Given the description of an element on the screen output the (x, y) to click on. 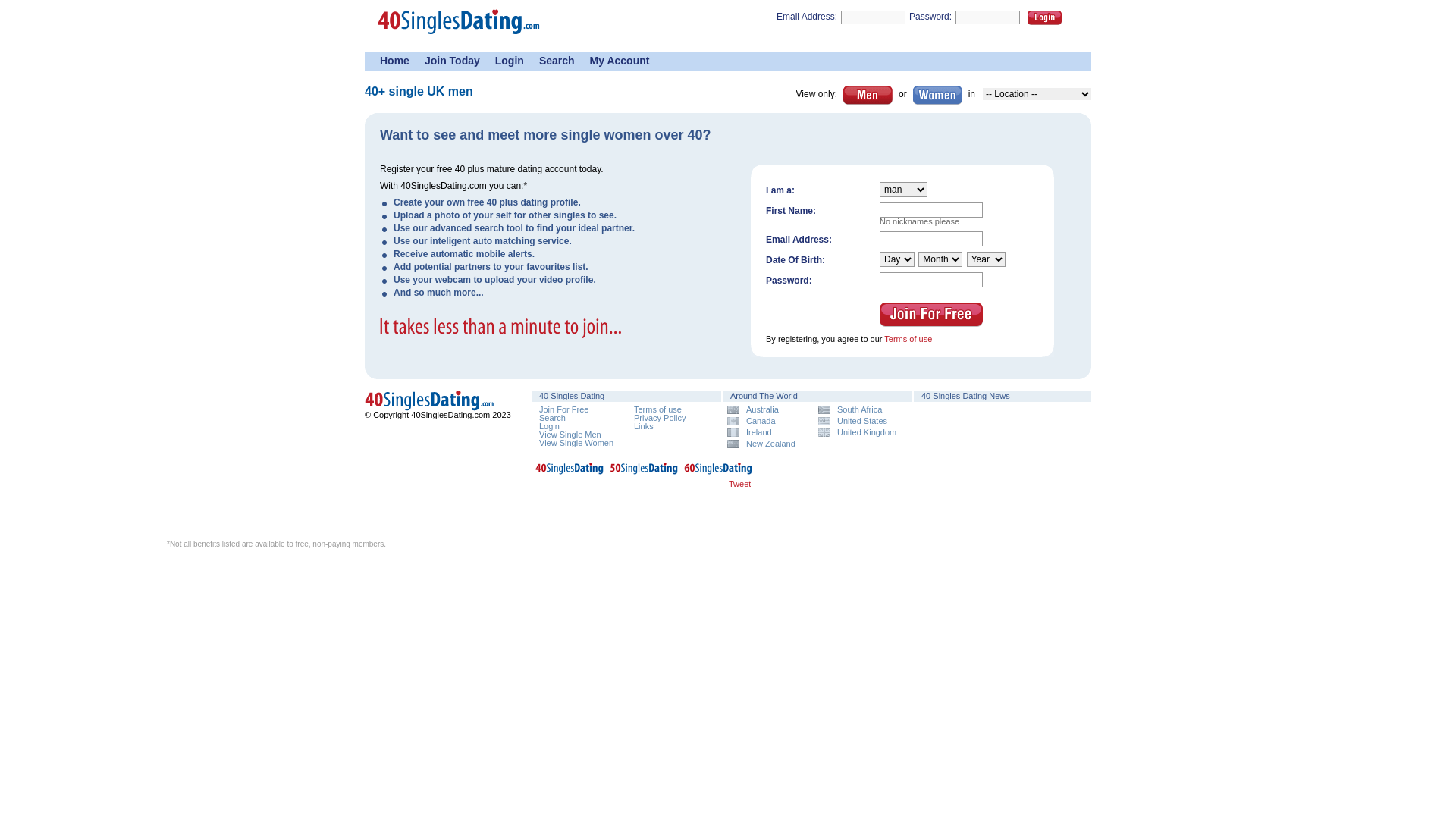
United Kingdom Element type: text (857, 432)
View Single Men Element type: text (570, 434)
40 Singles Dating Element type: hover (432, 407)
40 Singles Dating News Element type: text (965, 395)
New Zealand Element type: text (766, 443)
View Single Women Element type: text (576, 442)
Terms of use Element type: text (657, 409)
Privacy Policy Element type: text (659, 417)
40 Singles Dating Element type: hover (569, 471)
Join For Free Element type: text (563, 409)
Register Element type: text (930, 314)
Login Element type: text (549, 425)
Ireland Element type: text (766, 432)
Join Today Element type: text (452, 60)
Men Element type: text (867, 94)
60 Singles Dating Element type: hover (718, 471)
Search Element type: text (552, 417)
Terms of use Element type: text (907, 338)
South Africa Element type: text (857, 409)
Women Element type: text (937, 94)
Login Element type: text (509, 60)
40 Singles Dating Element type: hover (432, 400)
50 Singles Dating Element type: hover (643, 471)
40 Singles Dating Element type: hover (463, 38)
United States Element type: text (857, 421)
Tweet Element type: text (739, 483)
Home Element type: text (394, 60)
Search Element type: text (556, 60)
My Account Element type: text (619, 60)
Canada Element type: text (766, 421)
Links Element type: text (643, 425)
Australia Element type: text (766, 409)
Login Element type: text (1044, 17)
